Given the description of an element on the screen output the (x, y) to click on. 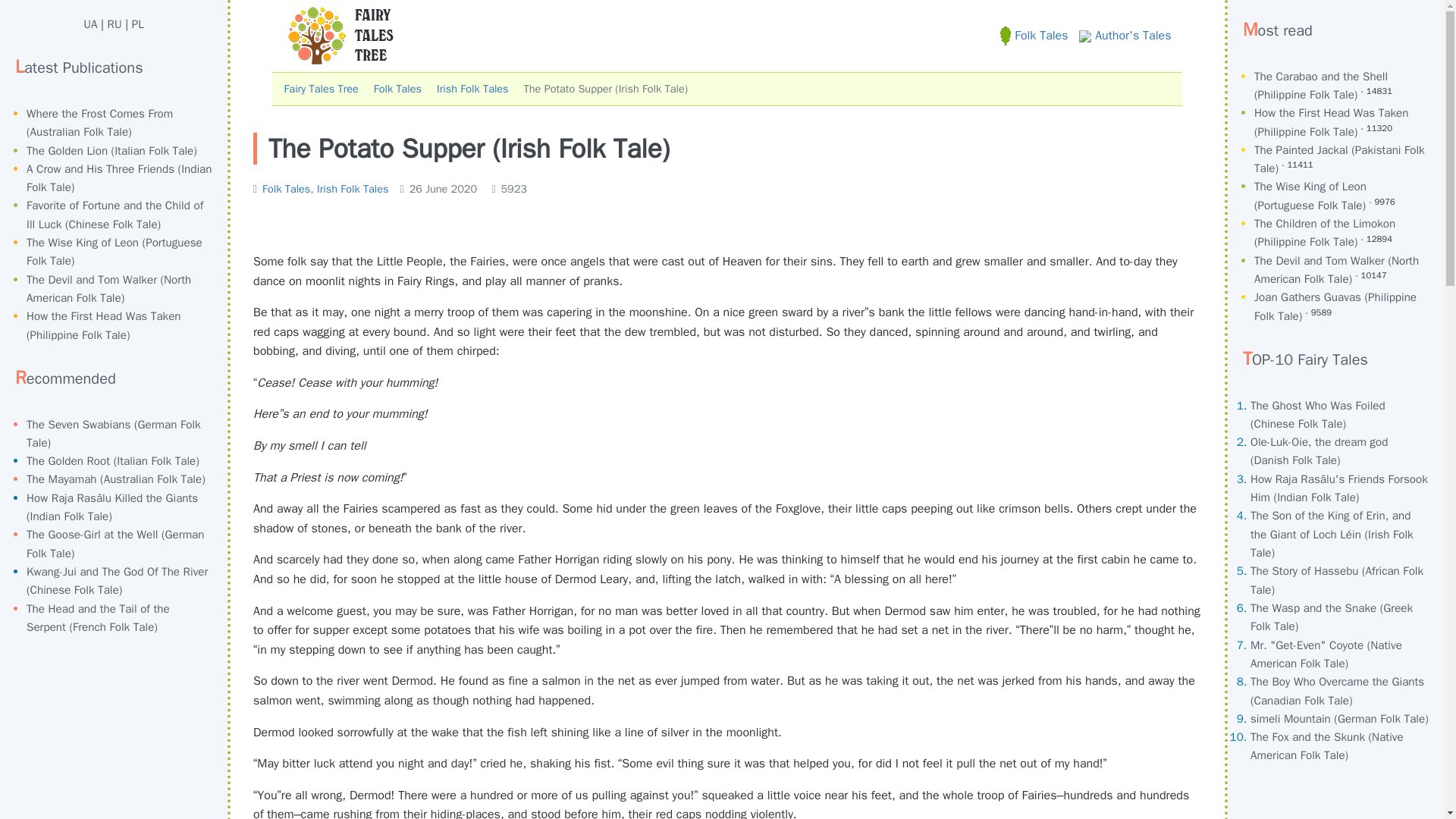
Irish Folk Tales (352, 188)
Irish Folk Tales (472, 88)
Post category (320, 188)
Fairy Tales Tree (320, 88)
RU (114, 23)
UA (89, 23)
Folk Tales (1033, 35)
Folk Tales (286, 188)
Folk Tales (398, 88)
Author's Tales (1124, 35)
